Given the description of an element on the screen output the (x, y) to click on. 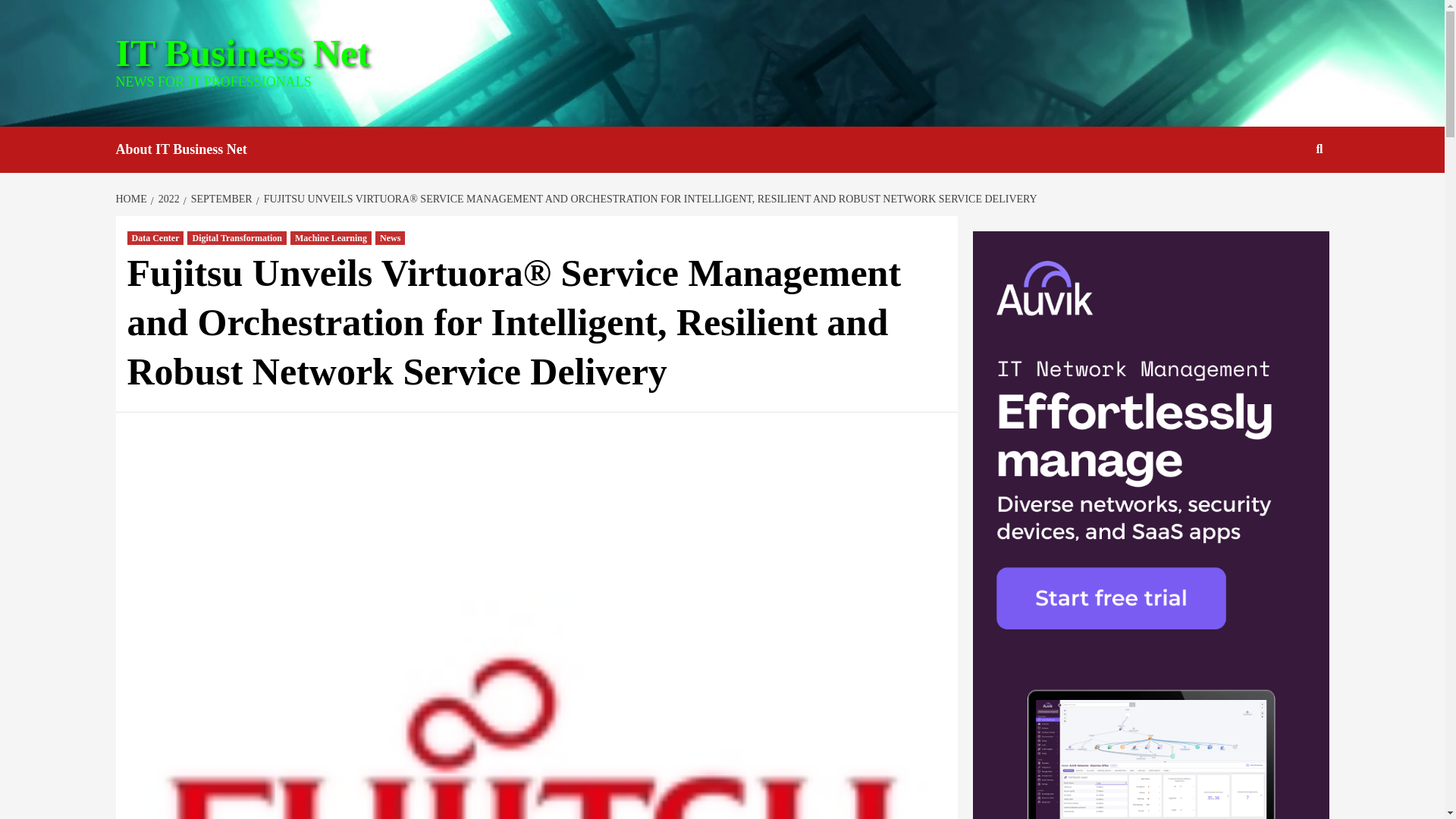
HOME (132, 198)
SEPTEMBER (219, 198)
About IT Business Net (192, 149)
News (389, 237)
Search (1283, 197)
IT Business Net (242, 52)
2022 (167, 198)
Digital Transformation (236, 237)
Data Center (156, 237)
Machine Learning (330, 237)
